Given the description of an element on the screen output the (x, y) to click on. 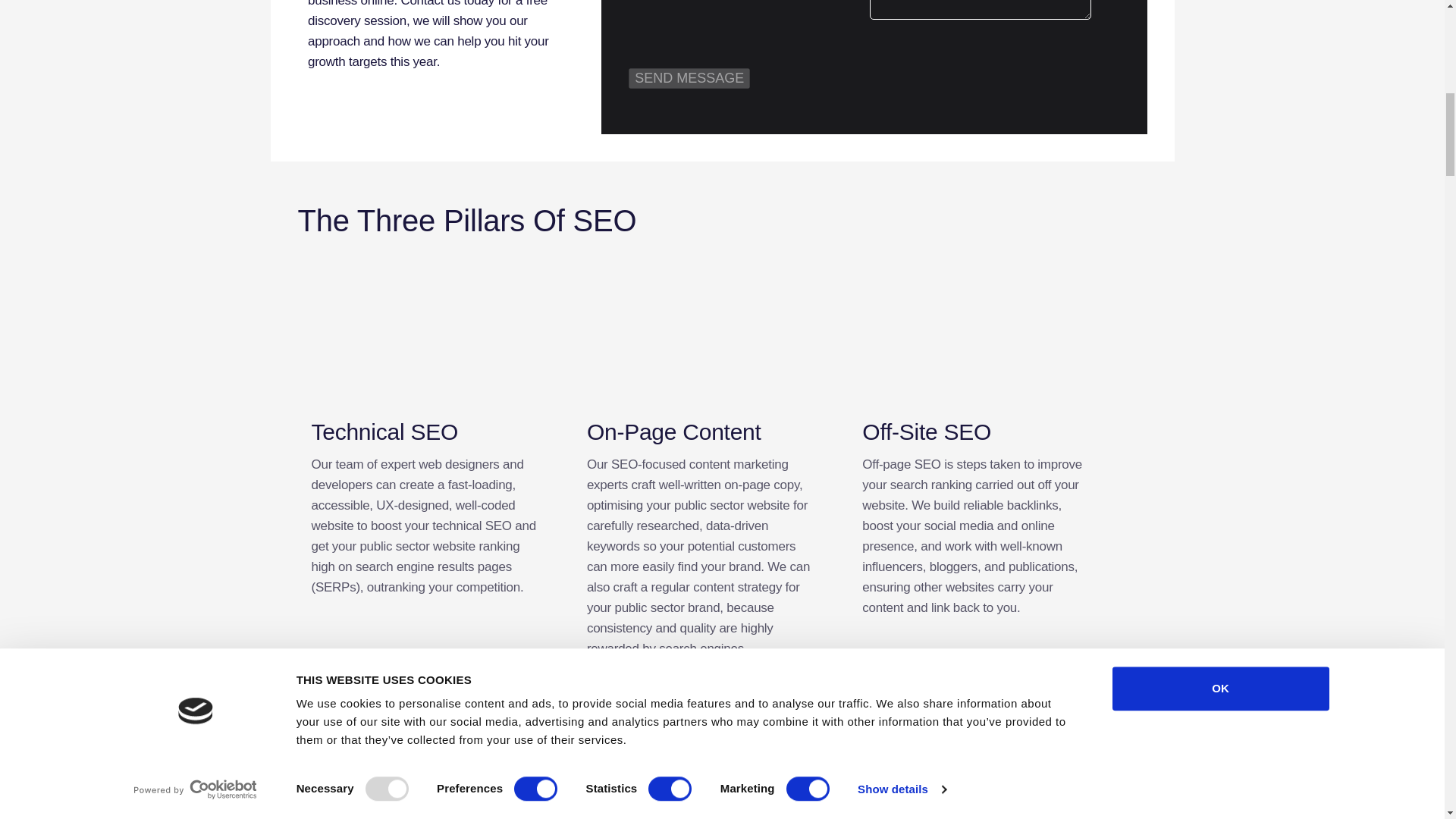
SEND MESSAGE (688, 77)
